Given the description of an element on the screen output the (x, y) to click on. 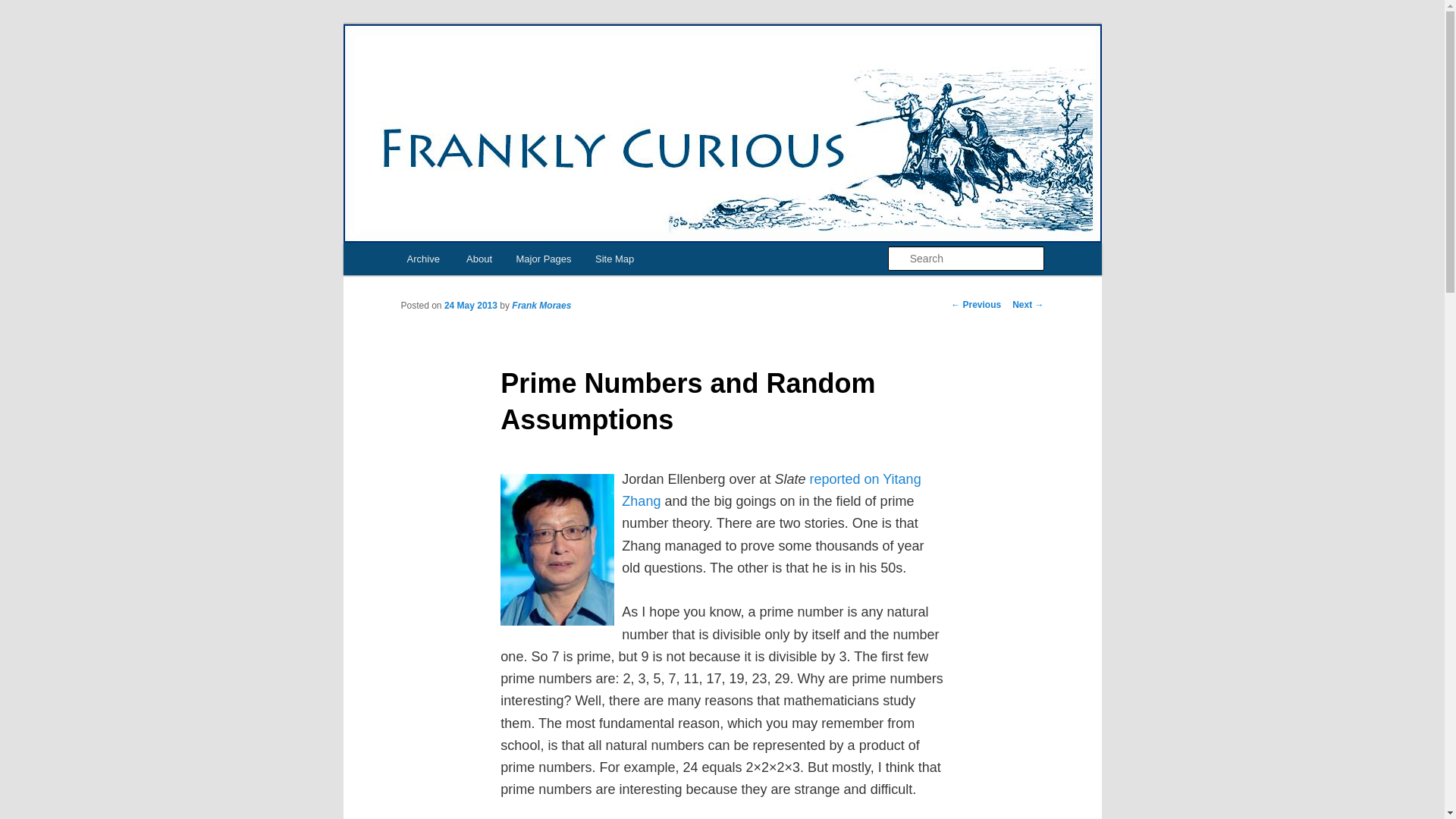
10:50 am (470, 305)
Frankly Curious (486, 78)
View all posts by Frank Moraes (541, 305)
Major Pages (543, 258)
About Frankly Curious (478, 258)
 Archive  (423, 258)
Search (24, 8)
24 May 2013 (470, 305)
reported on Yitang Zhang (770, 489)
Archive (423, 258)
Frank Moraes (541, 305)
About (478, 258)
Site Map (614, 258)
